Given the description of an element on the screen output the (x, y) to click on. 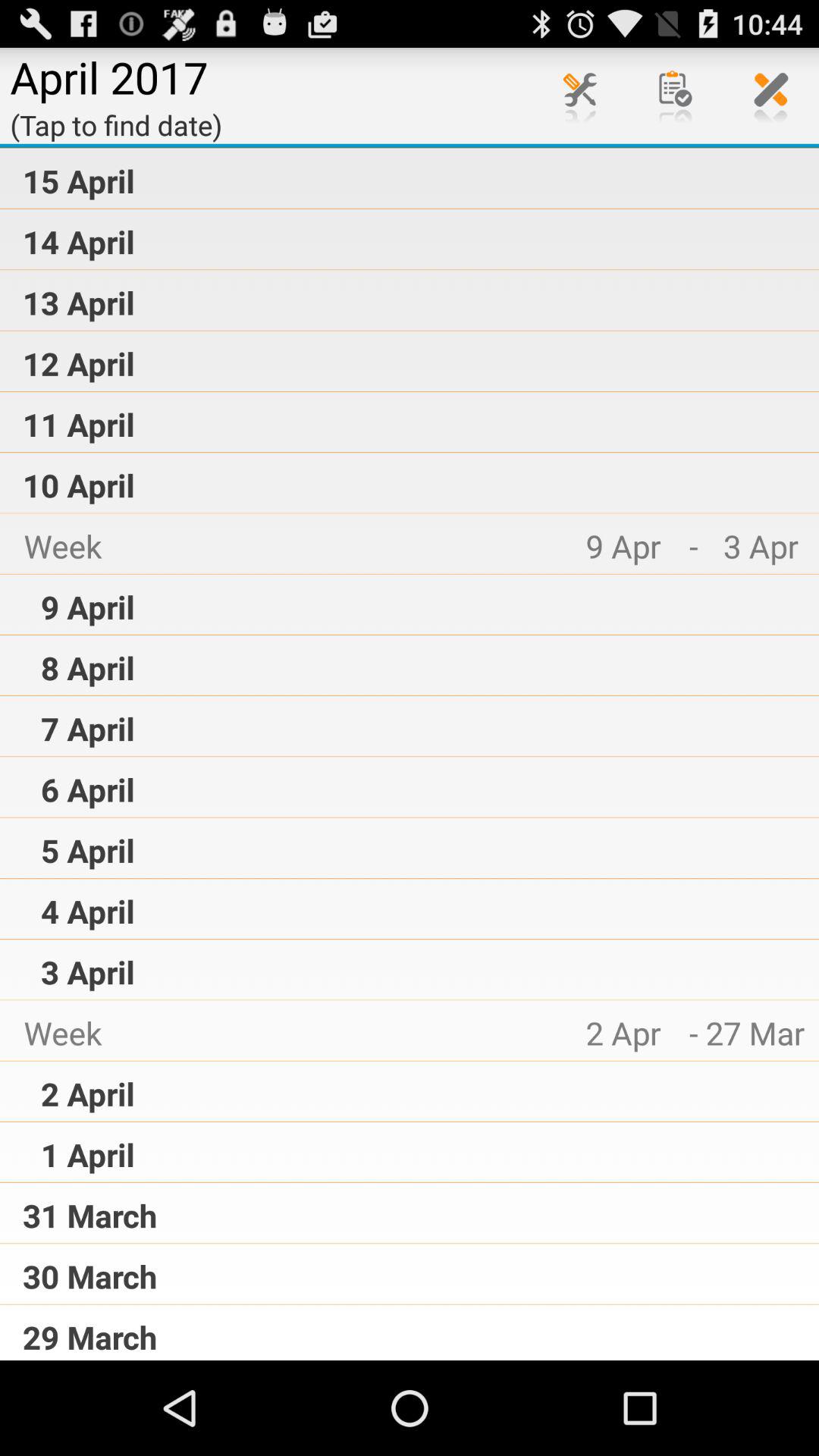
logon (579, 95)
